Given the description of an element on the screen output the (x, y) to click on. 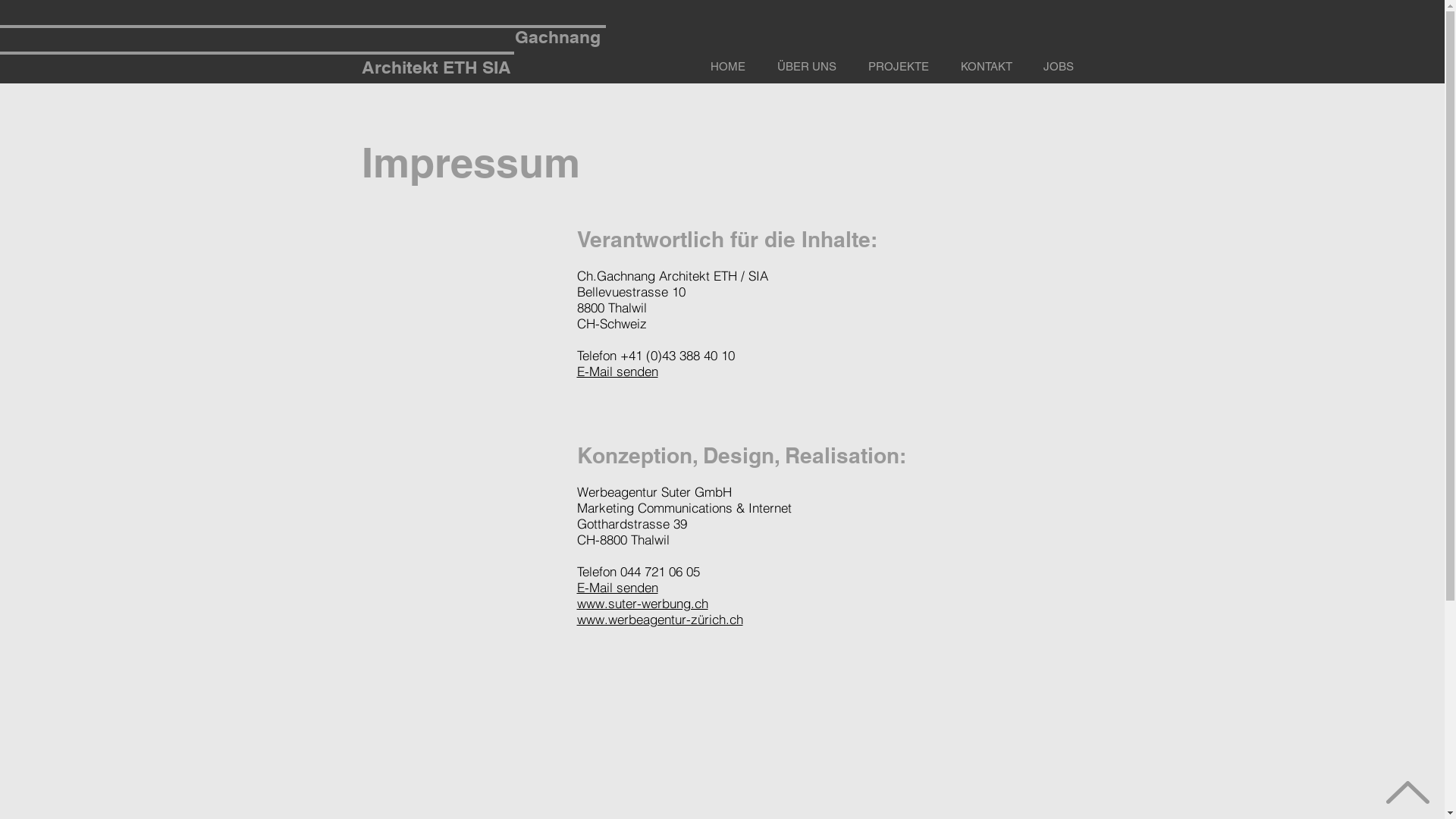
E-Mail senden Element type: text (616, 587)
Architekt ETH SIA Element type: text (435, 66)
www.suter-werbung.ch Element type: text (641, 603)
KONTAKT Element type: text (986, 59)
PROJEKTE Element type: text (898, 59)
HOME Element type: text (727, 59)
Gachnang Element type: text (556, 36)
E-Mail senden Element type: text (616, 371)
JOBS Element type: text (1058, 59)
